Given the description of an element on the screen output the (x, y) to click on. 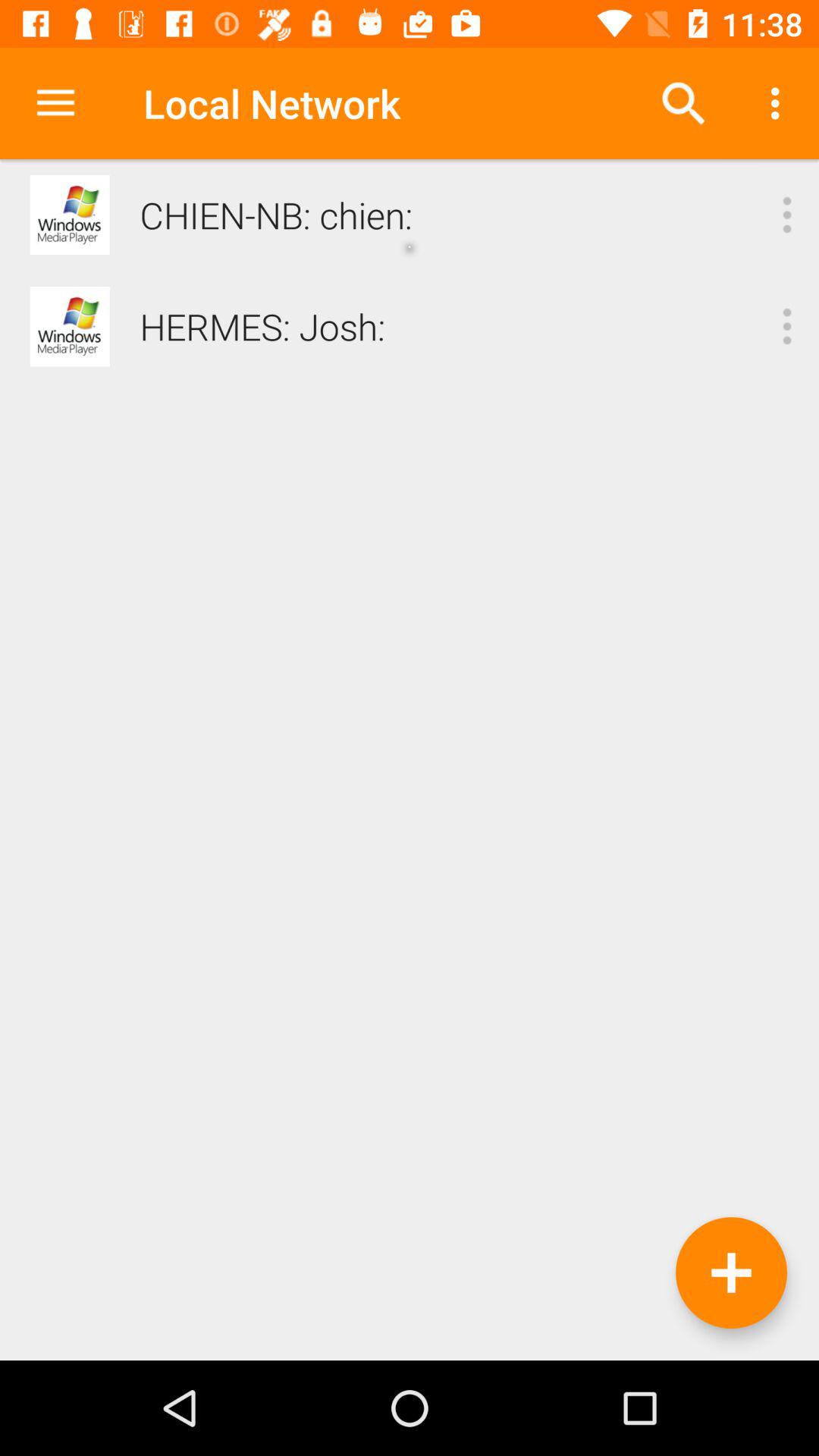
click app next to local network (55, 103)
